Given the description of an element on the screen output the (x, y) to click on. 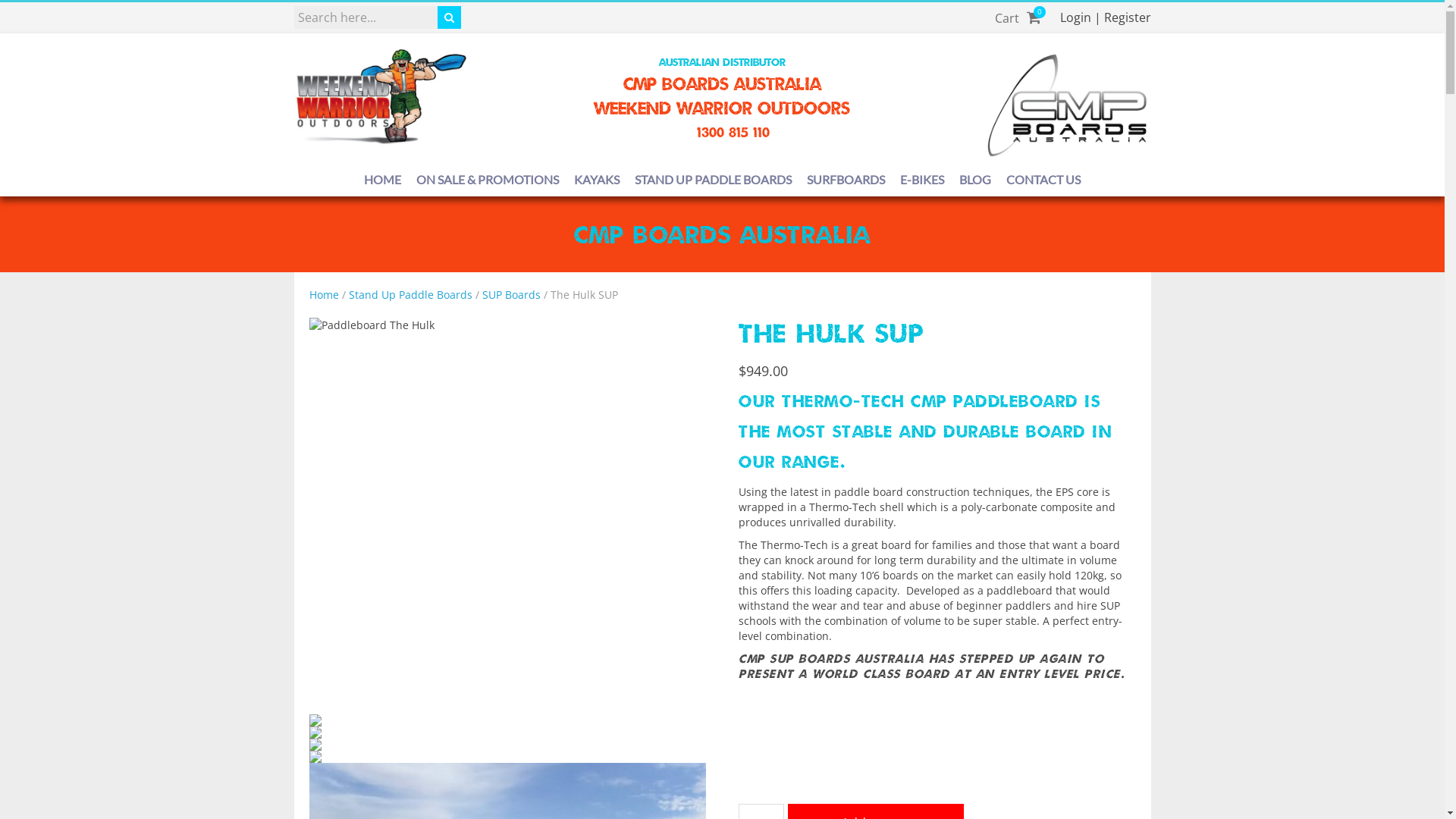
Cart
0 Element type: text (1017, 17)
CONTACT US Element type: text (1043, 179)
ON SALE & PROMOTIONS Element type: text (487, 179)
Stand Up Paddle Boards Element type: text (410, 294)
SURFBOARDS Element type: text (845, 179)
Register Element type: text (1127, 17)
Paddleboard The Hulk Element type: hover (507, 515)
KAYAKS Element type: text (596, 179)
BLOG Element type: text (974, 179)
Home Element type: text (323, 294)
Search Element type: text (28, 11)
1300 815 110 Element type: text (721, 131)
SUP Boards Element type: text (511, 294)
HOME Element type: text (382, 179)
Login Element type: text (1075, 17)
STAND UP PADDLE BOARDS Element type: text (713, 179)
E-BIKES Element type: text (921, 179)
